Given the description of an element on the screen output the (x, y) to click on. 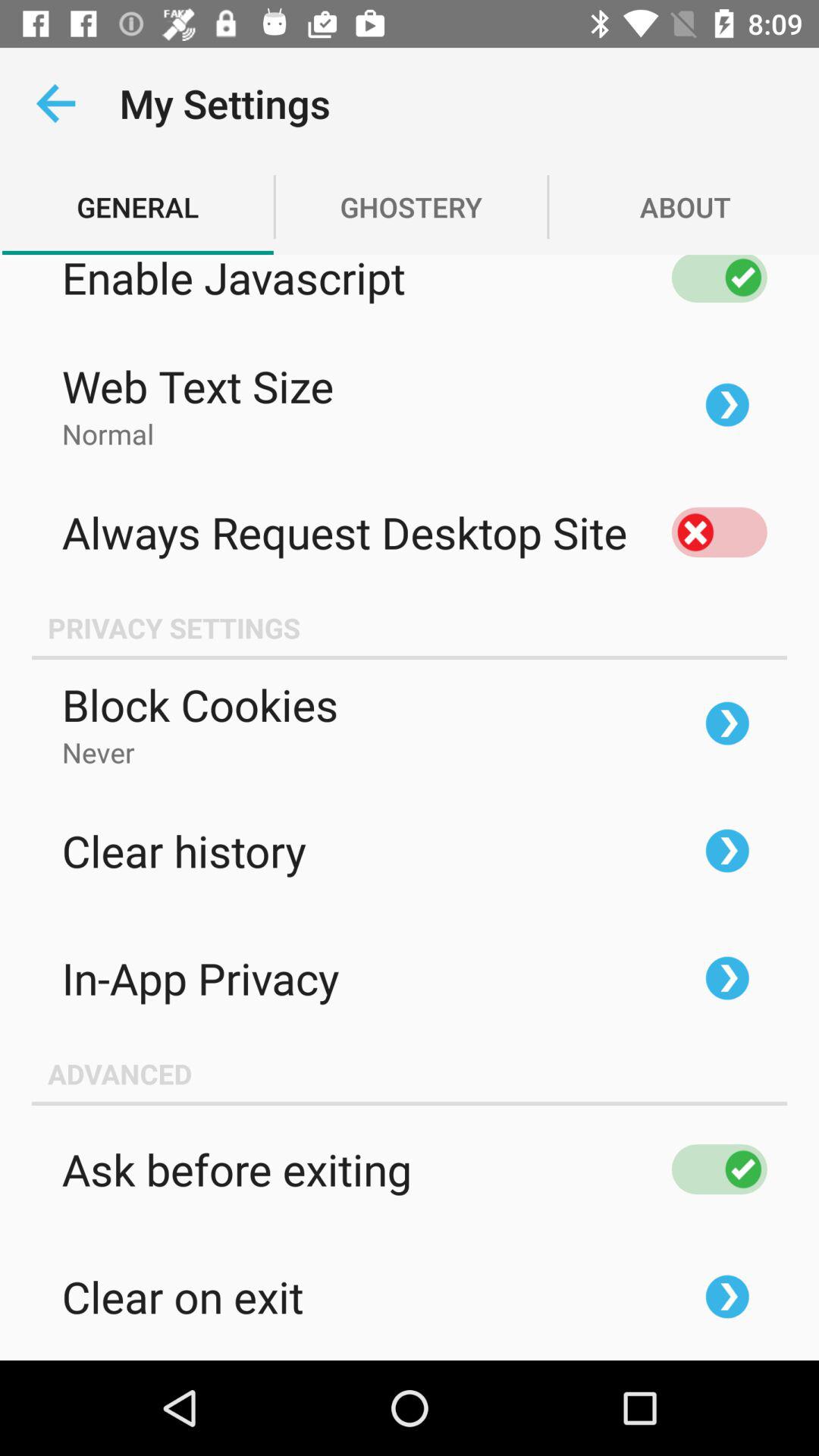
toggle desktop site option (719, 532)
